Given the description of an element on the screen output the (x, y) to click on. 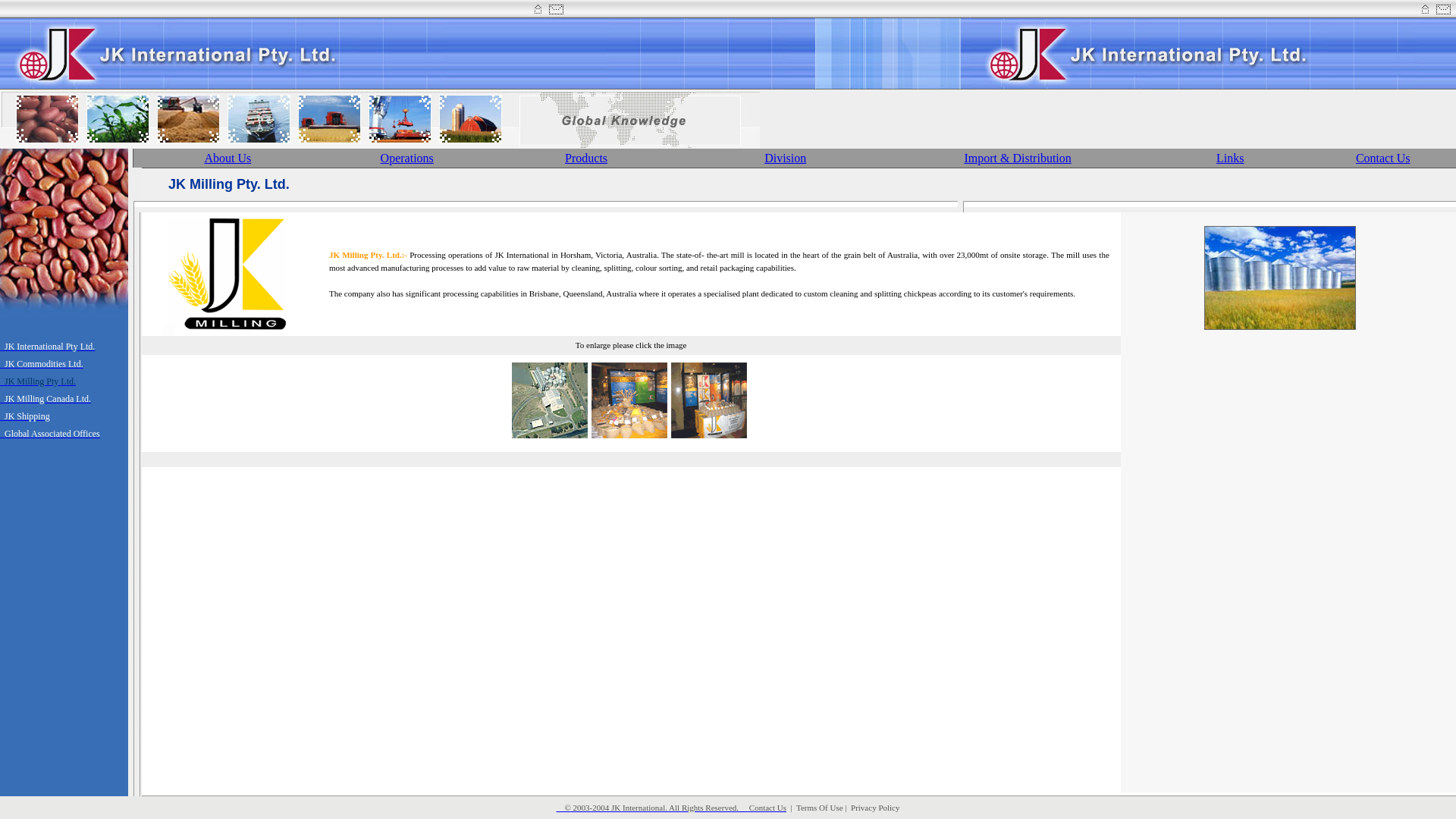
  JK Milling Canada Ltd. Element type: text (45, 397)
Contact Us Element type: text (1382, 157)
Terms Of Use Element type: text (819, 807)
  JK International Pty Ltd. Element type: text (47, 344)
  Global Associated Offices Element type: text (50, 432)
  JK Milling Pty Ltd. Element type: text (37, 379)
Operations Element type: text (406, 157)
About Us Element type: text (227, 157)
  JK Shipping Element type: text (25, 414)
Links Element type: text (1229, 157)
Products Element type: text (585, 157)
Division Element type: text (785, 157)
Privacy Policy Element type: text (874, 807)
  JK Commodities Ltd. Element type: text (41, 362)
Import & Distribution Element type: text (1016, 157)
